Given the description of an element on the screen output the (x, y) to click on. 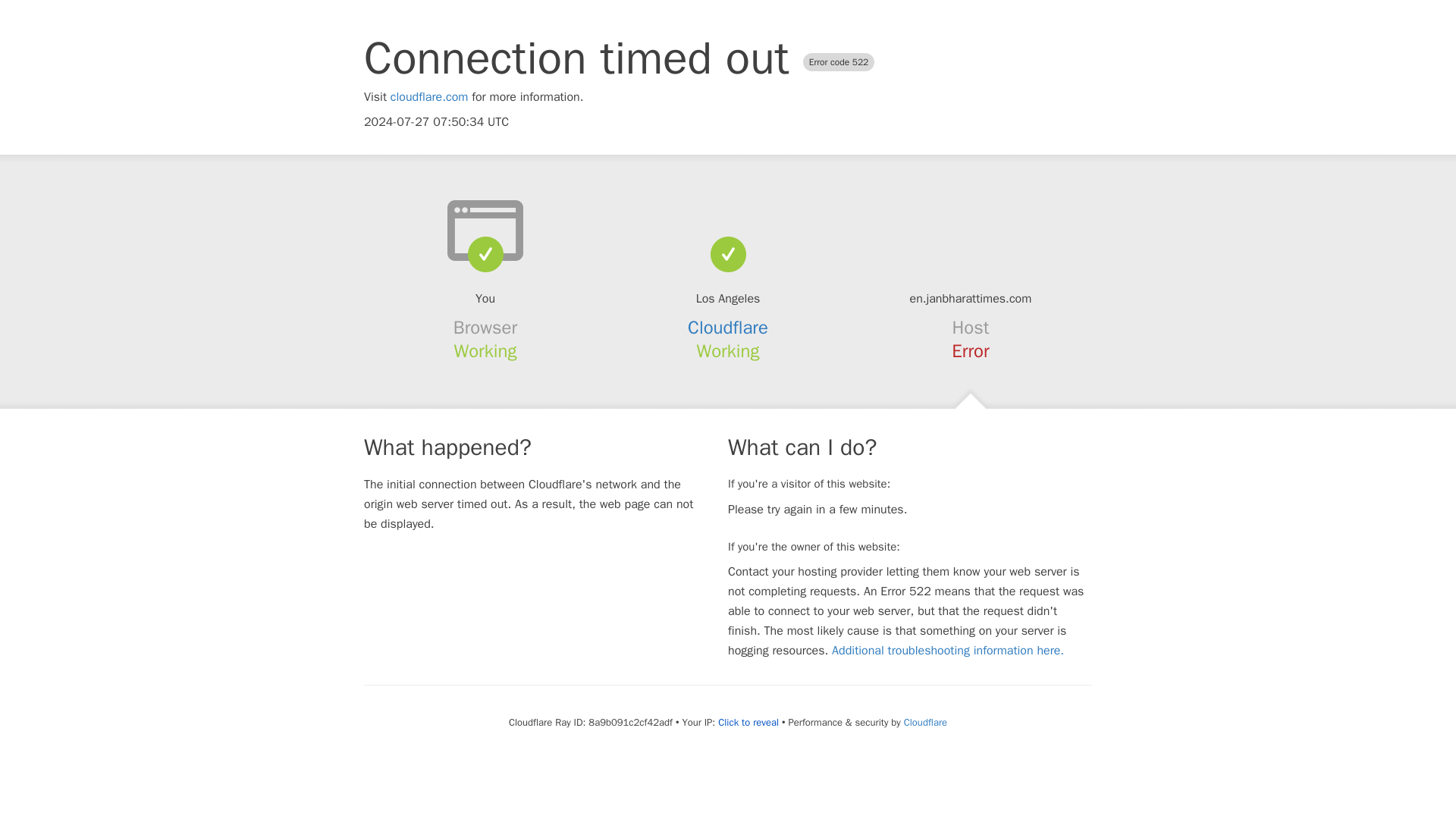
Click to reveal (747, 722)
cloudflare.com (429, 96)
Cloudflare (727, 327)
Cloudflare (925, 721)
Additional troubleshooting information here. (947, 650)
